Given the description of an element on the screen output the (x, y) to click on. 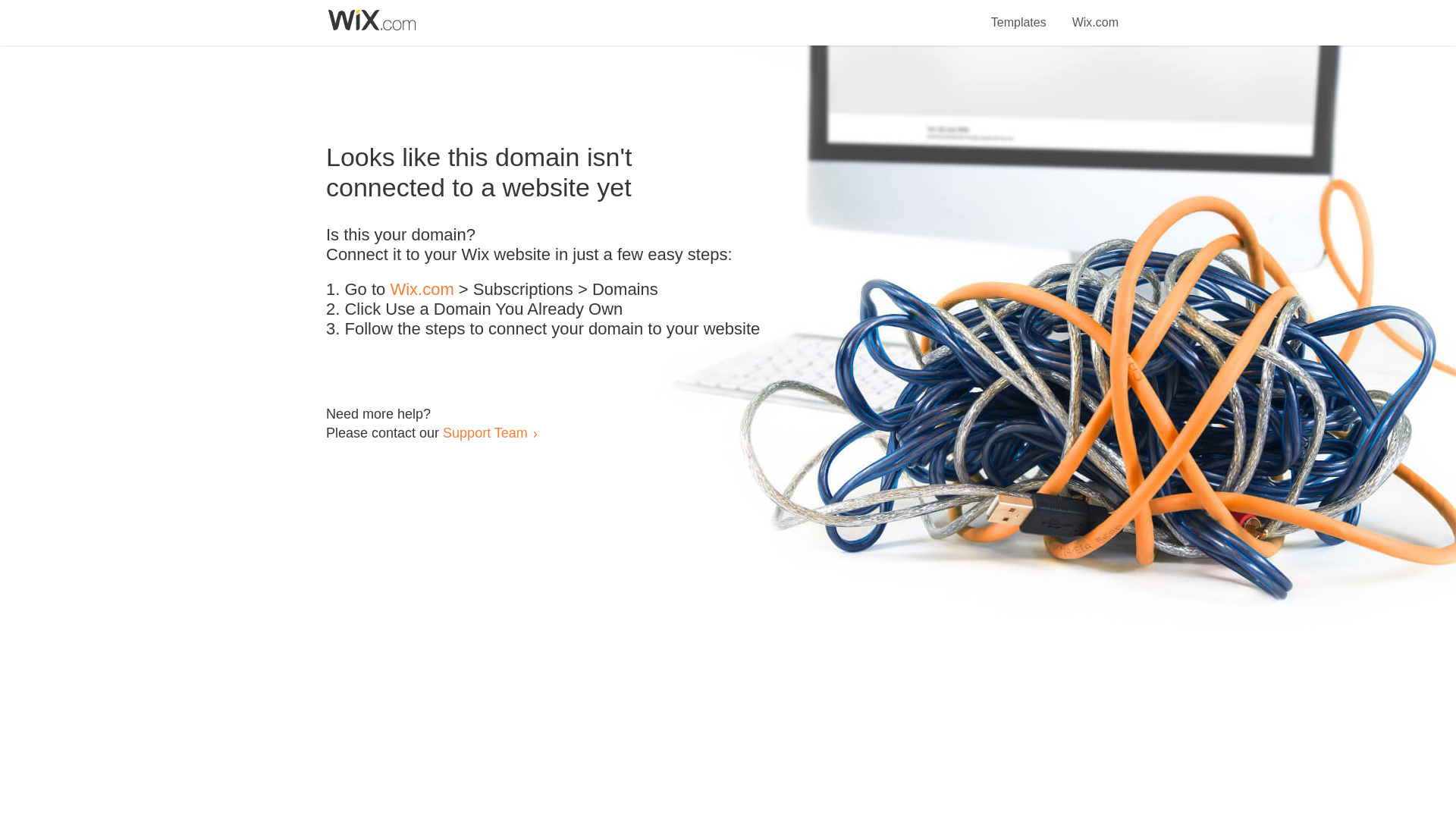
Support Team (484, 432)
Wix.com (1095, 14)
Wix.com (421, 289)
Templates (1018, 14)
